Given the description of an element on the screen output the (x, y) to click on. 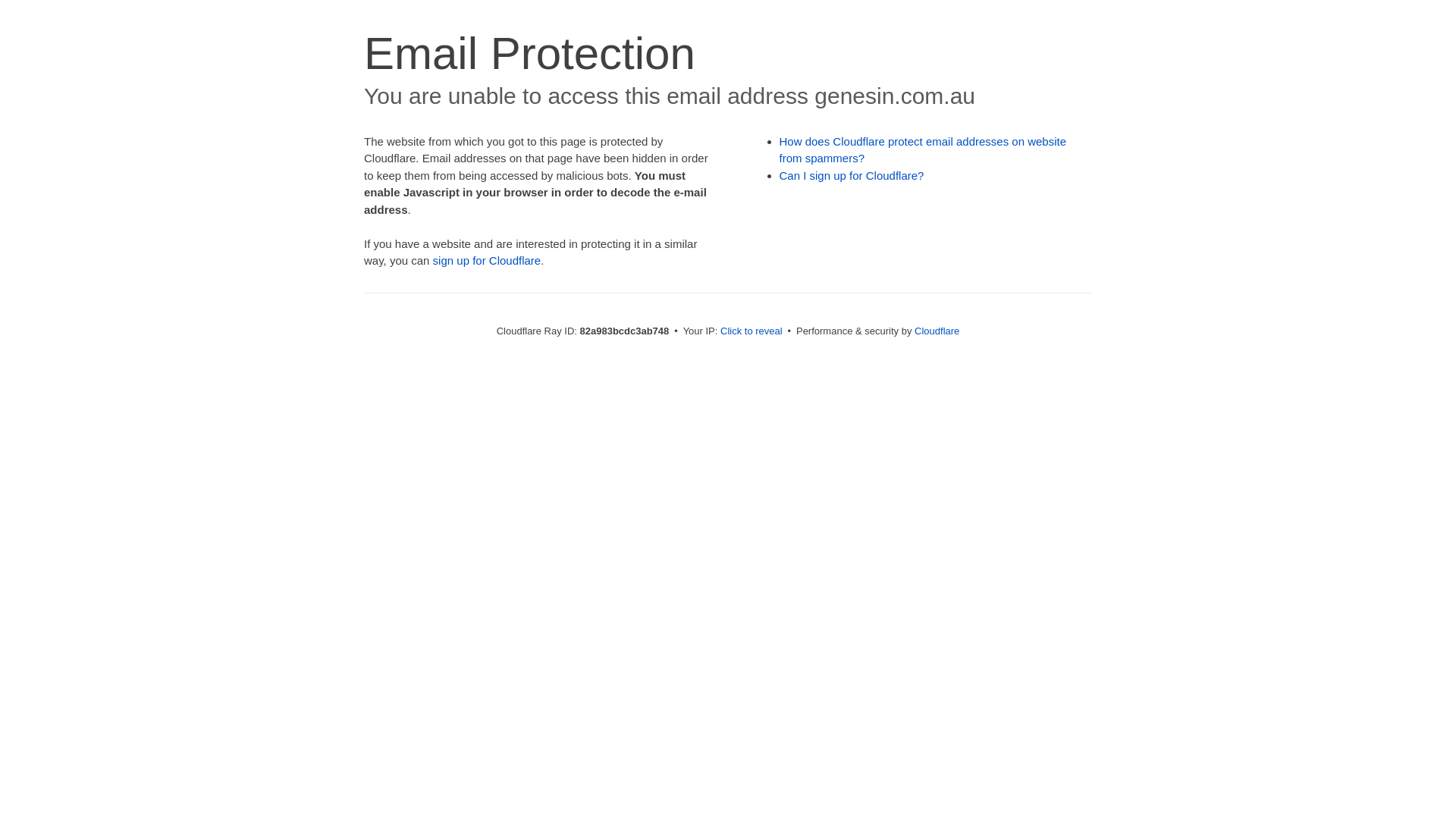
Click to reveal Element type: text (751, 330)
Cloudflare Element type: text (936, 330)
sign up for Cloudflare Element type: text (487, 260)
Can I sign up for Cloudflare? Element type: text (851, 175)
